Given the description of an element on the screen output the (x, y) to click on. 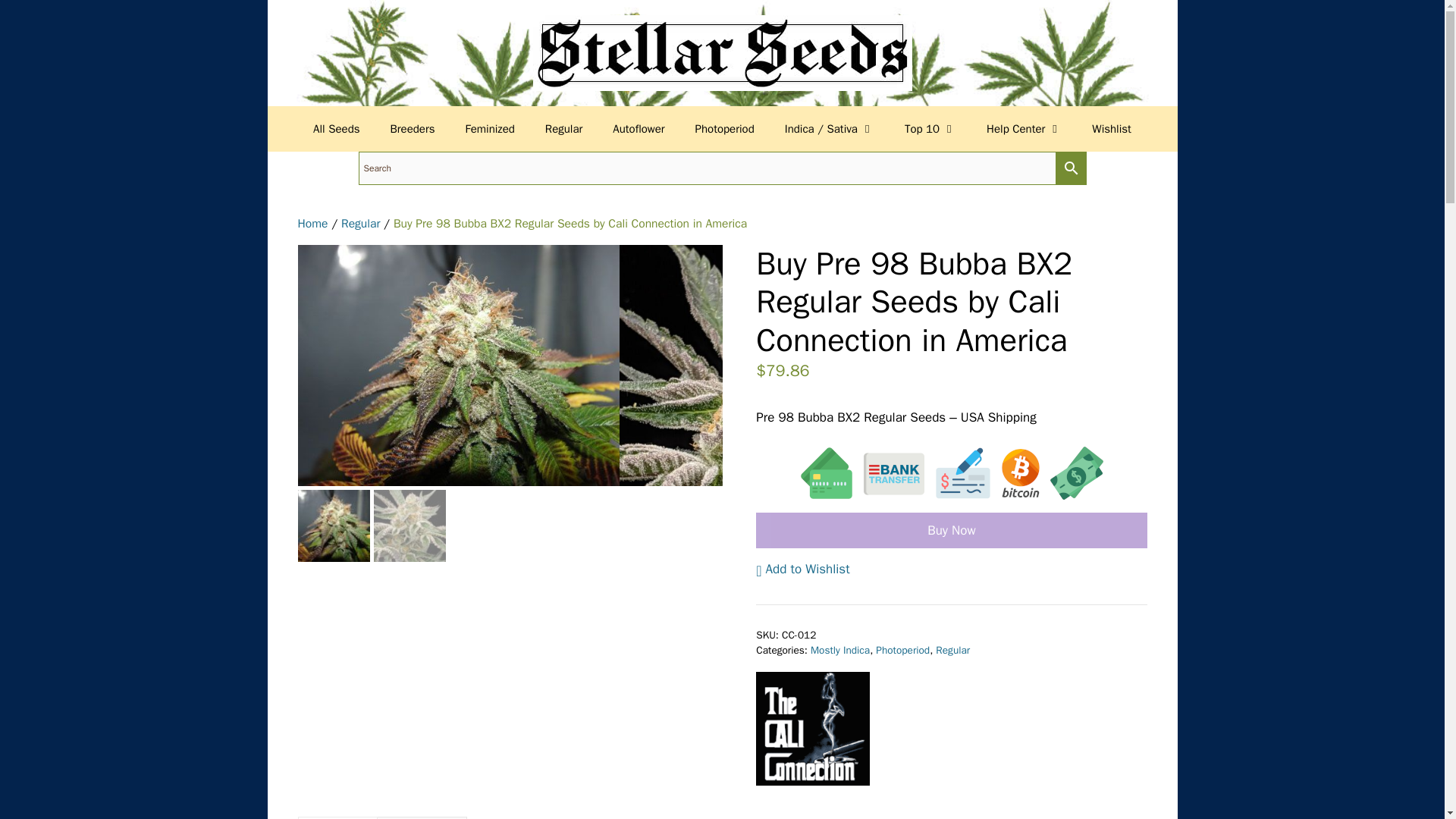
Top 10 (930, 128)
Feminized (489, 128)
Autoflower (637, 128)
All Seeds (336, 128)
Photoperiod (724, 128)
Cali Connection (812, 731)
Breeders (412, 128)
Pre 98 Bubba BX2 Regular Seeds (457, 365)
Regular (562, 128)
